Given the description of an element on the screen output the (x, y) to click on. 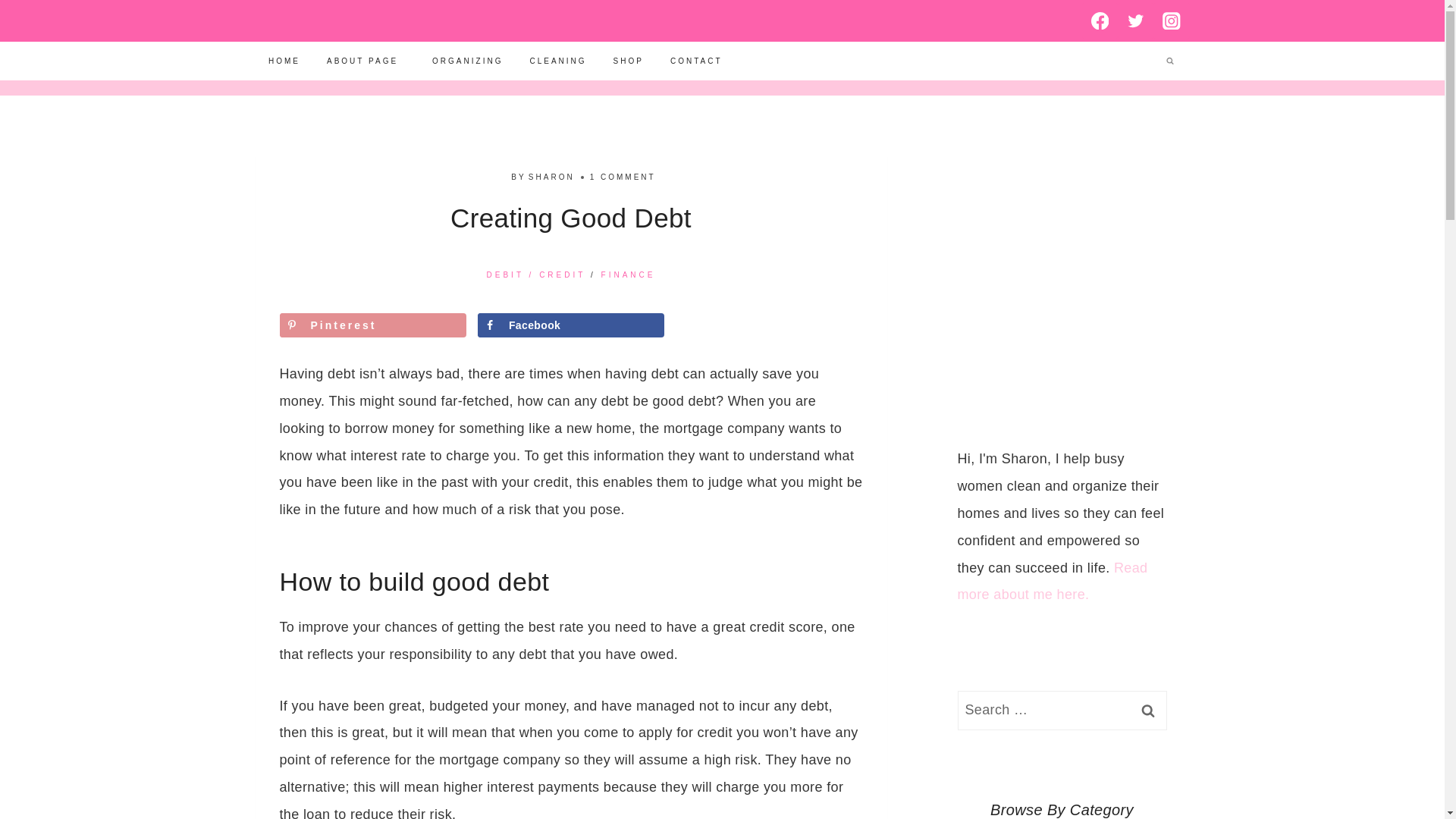
SHARON (551, 176)
Pinterest (372, 324)
SHOP (627, 61)
CONTACT (695, 61)
Search (1147, 710)
FINANCE (628, 275)
HOME (283, 61)
Share on Facebook (570, 324)
Share on X (768, 324)
CLEANING (557, 61)
